Given the description of an element on the screen output the (x, y) to click on. 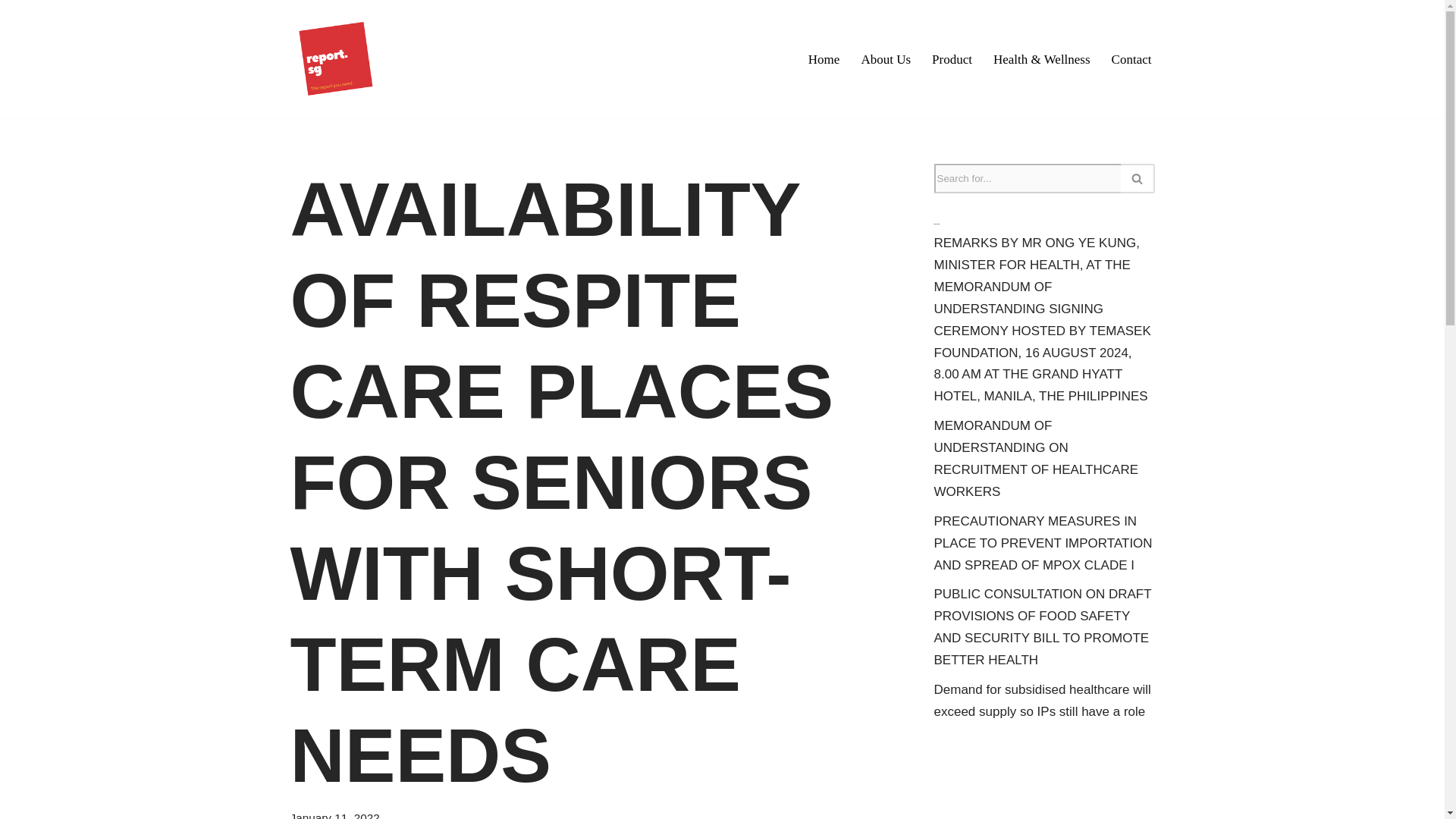
Skip to content (11, 31)
Product (951, 58)
Home (824, 58)
About Us (885, 58)
Contact (1131, 58)
